Given the description of an element on the screen output the (x, y) to click on. 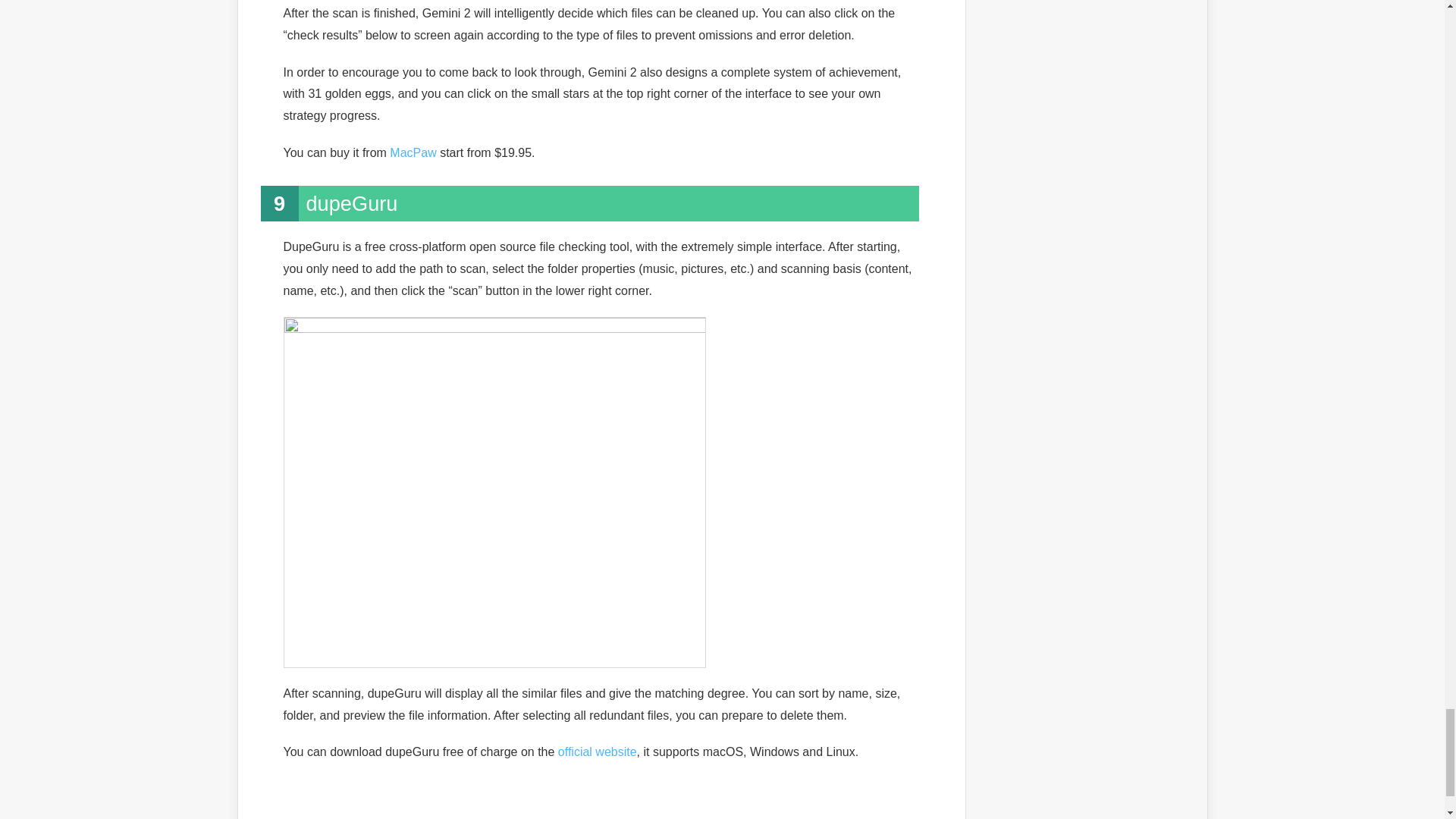
MacPaw (412, 152)
official website (597, 751)
